Given the description of an element on the screen output the (x, y) to click on. 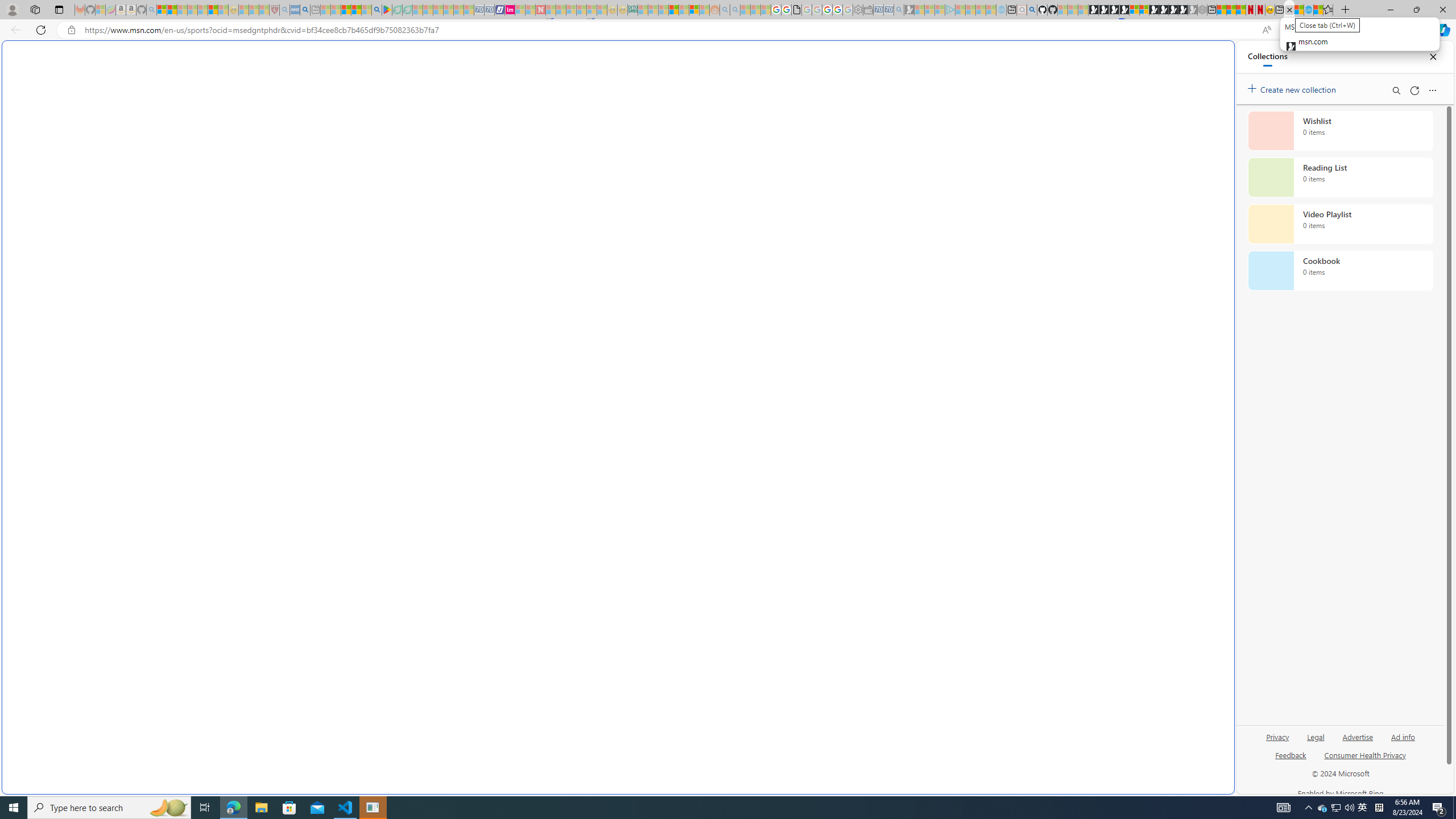
Expert Portfolios (673, 9)
Pets - MSN (356, 9)
